Given the description of an element on the screen output the (x, y) to click on. 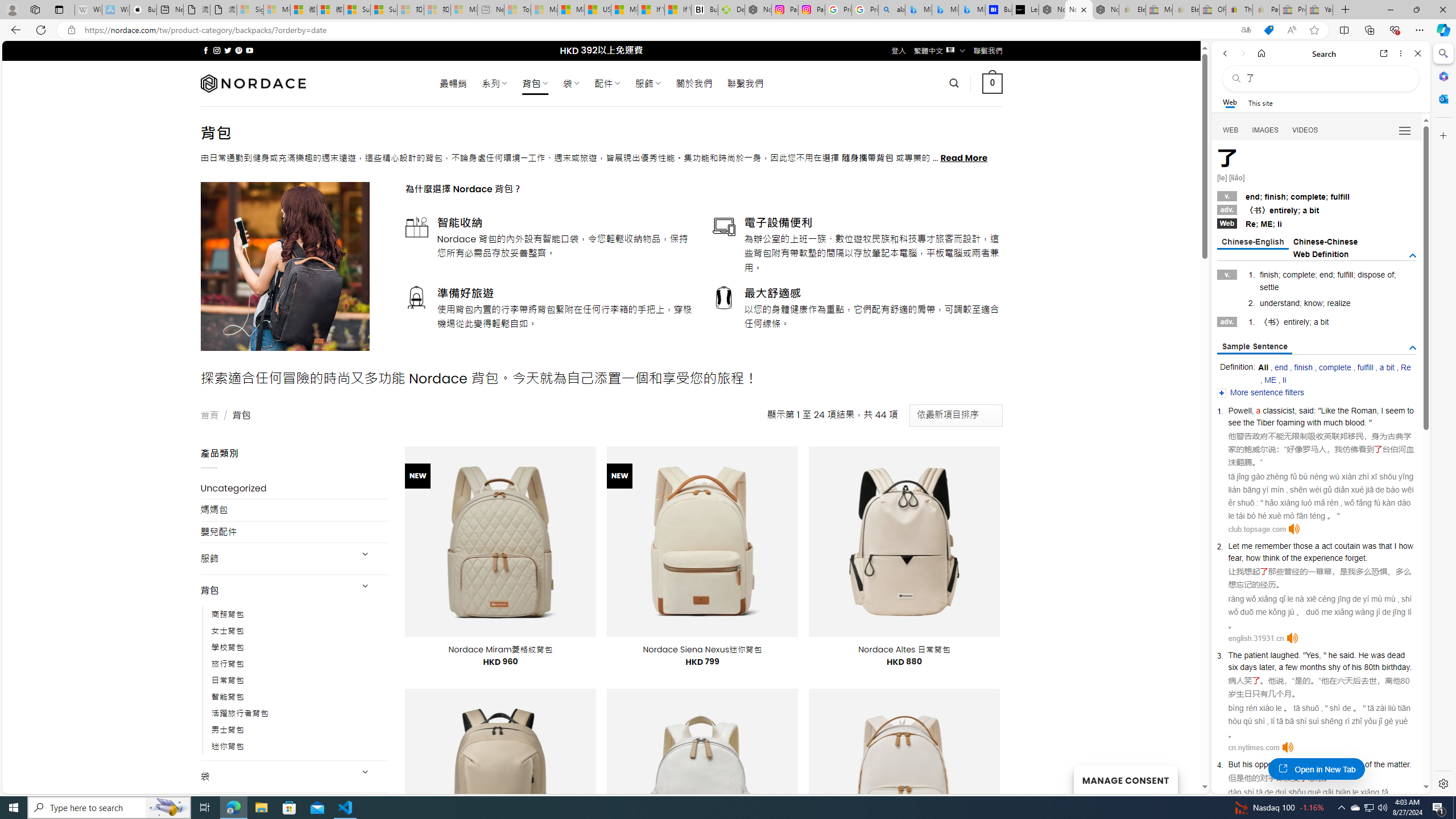
a bit (1386, 367)
understand (1279, 302)
Let (1233, 545)
He (1363, 655)
Like (1328, 410)
